Given the description of an element on the screen output the (x, y) to click on. 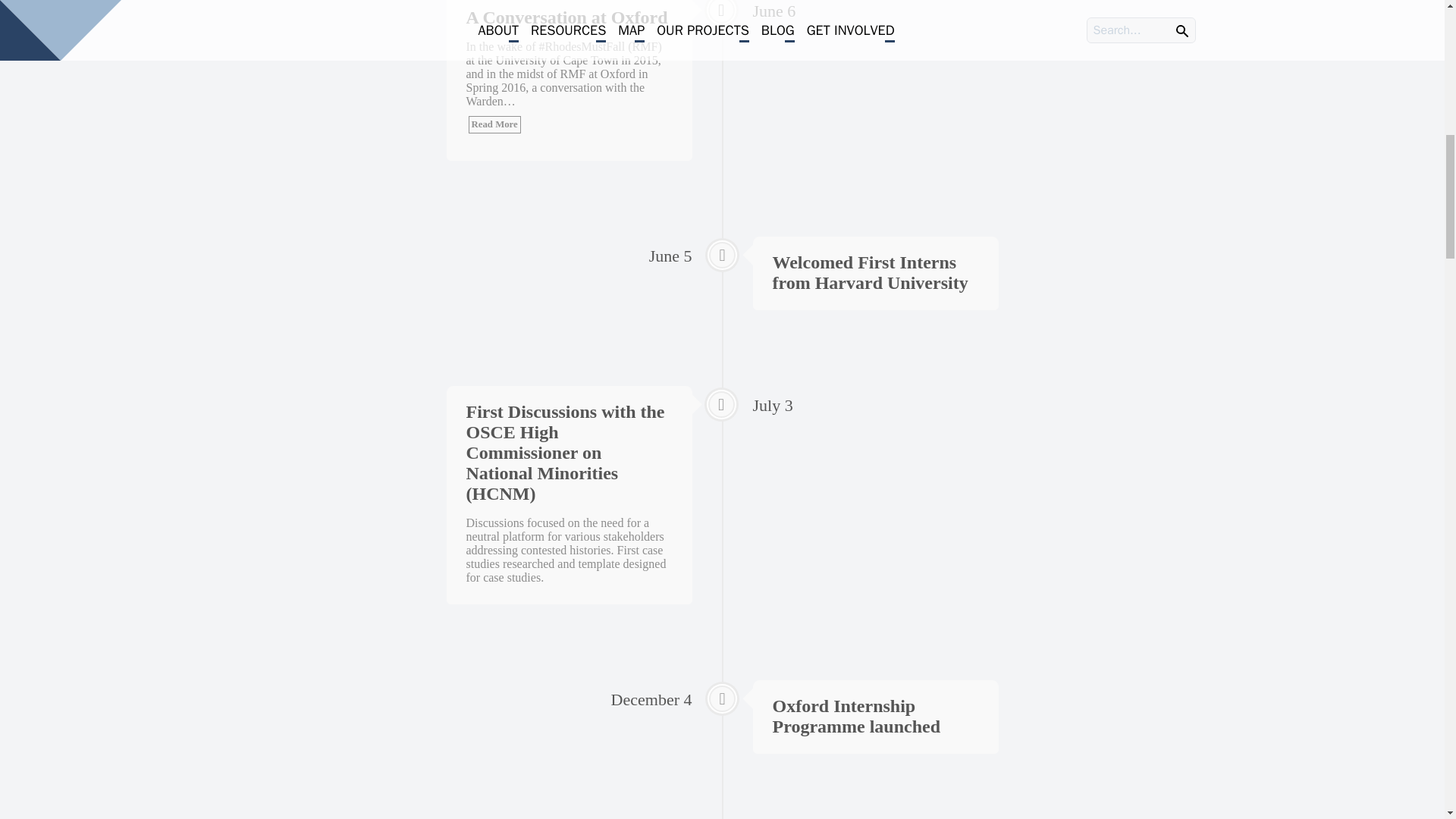
Oxford Internship Programme launched (855, 716)
A Conversation at Oxford (565, 17)
Welcomed First Interns from Harvard University (869, 272)
